Given the description of an element on the screen output the (x, y) to click on. 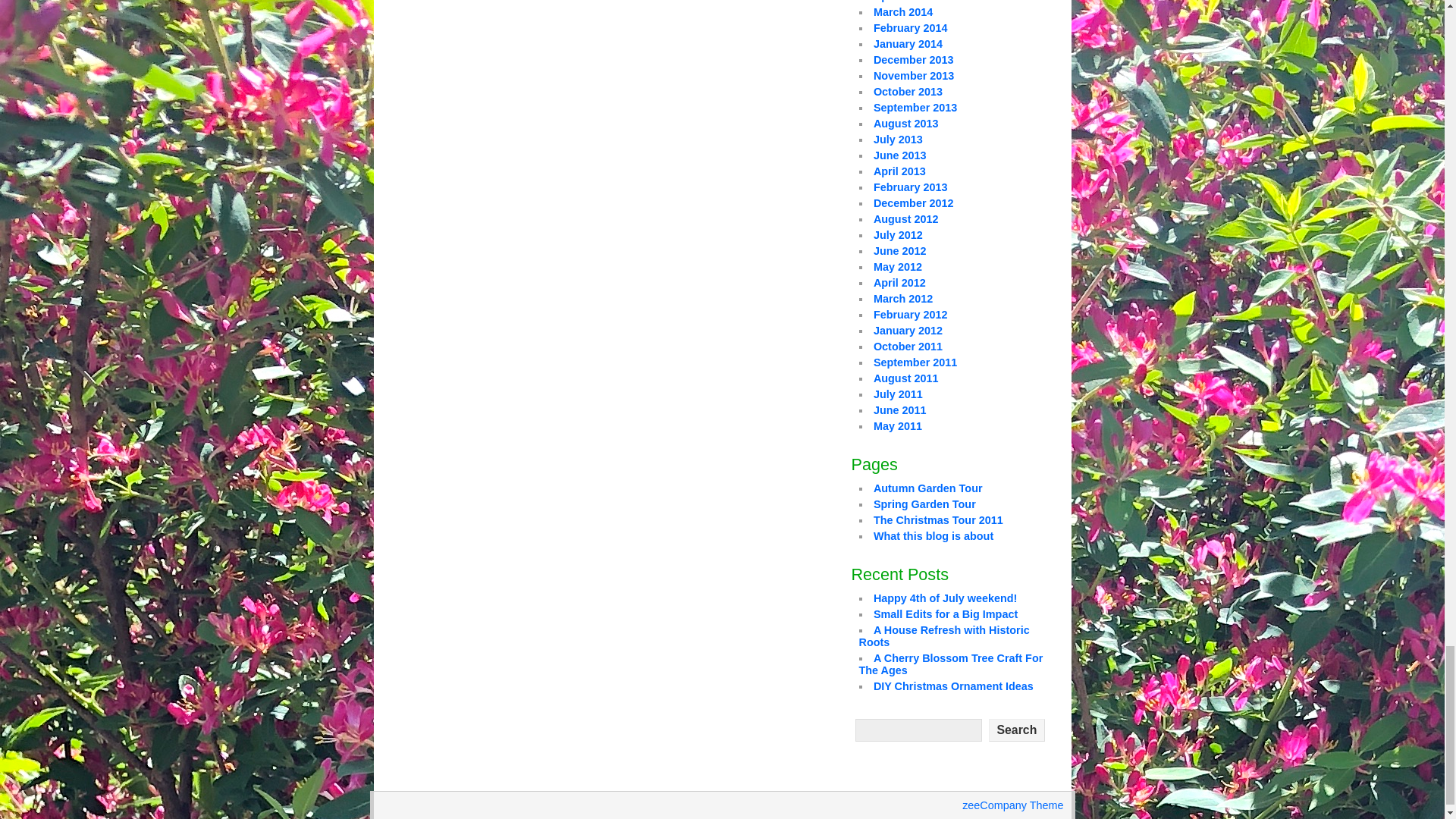
Search (1016, 730)
